Given the description of an element on the screen output the (x, y) to click on. 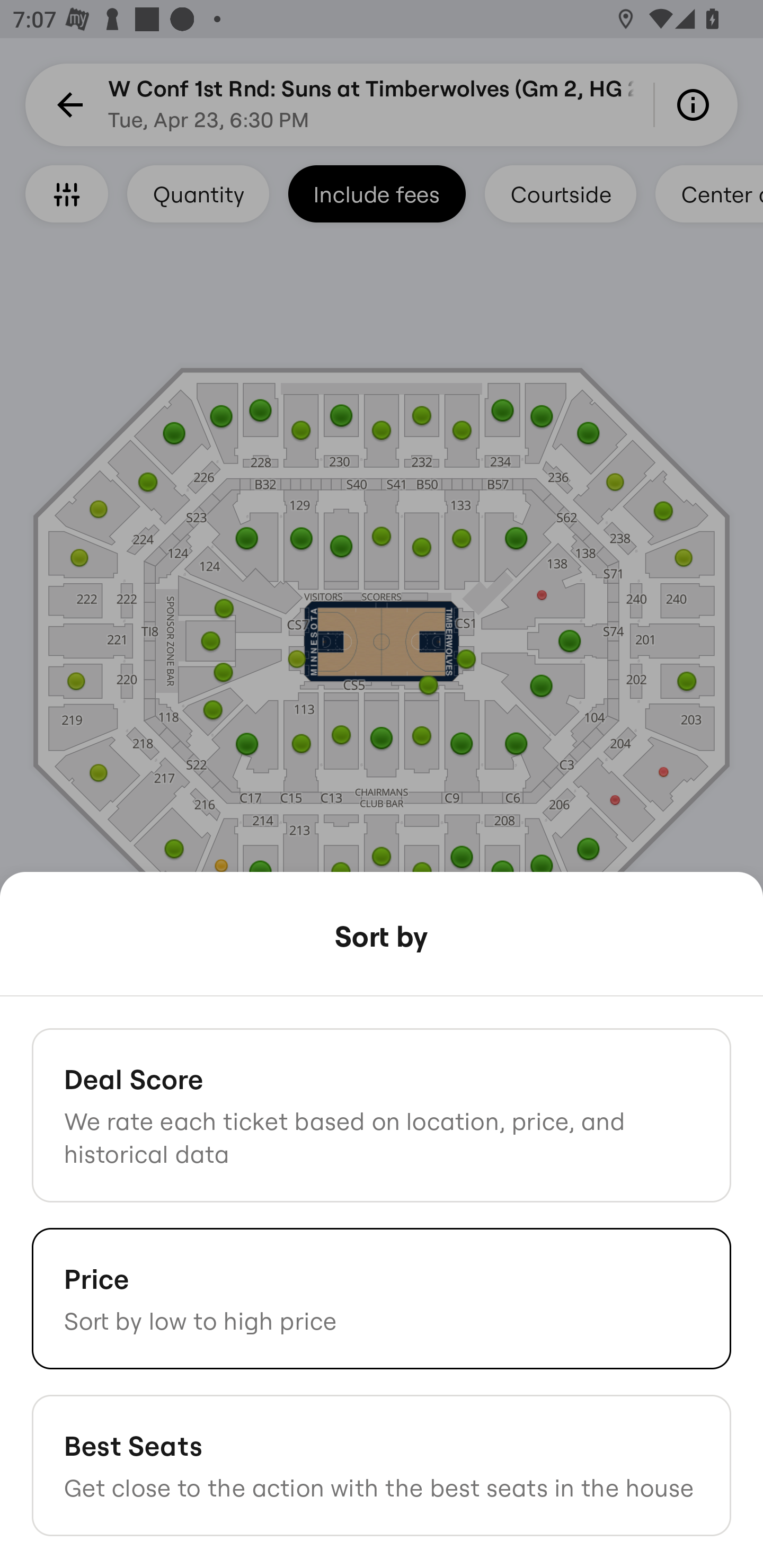
Price Sort by low to high price (381, 1297)
